Given the description of an element on the screen output the (x, y) to click on. 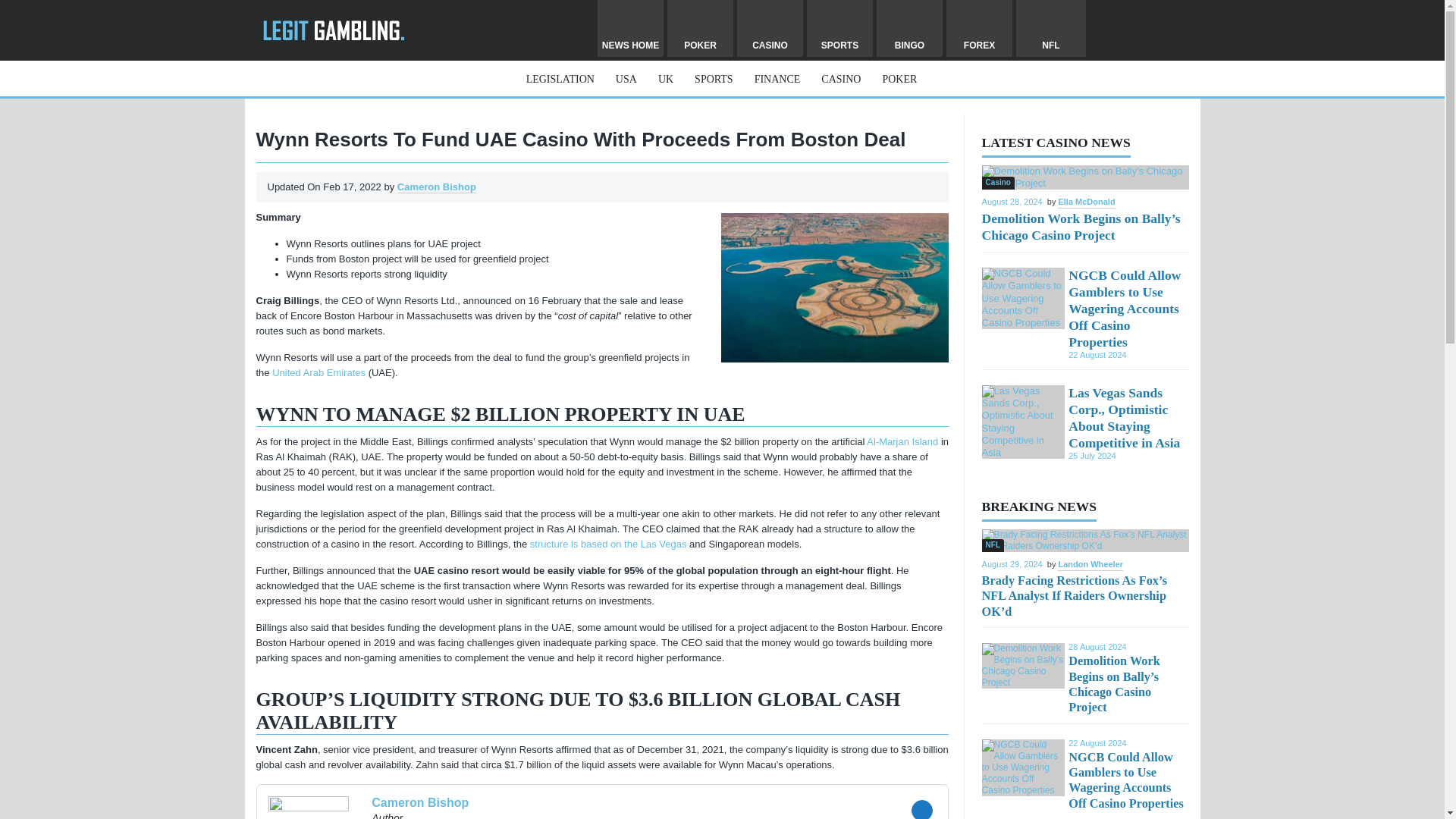
USA (625, 79)
BINGO (909, 28)
CASINO (840, 79)
Cameron Bishop (507, 807)
POKER (899, 79)
NEWS HOME (629, 28)
Al-Marjan Island (901, 441)
United Arab Emirates (318, 372)
CASINO (769, 28)
structure is based on the Las Vegas (608, 543)
